Given the description of an element on the screen output the (x, y) to click on. 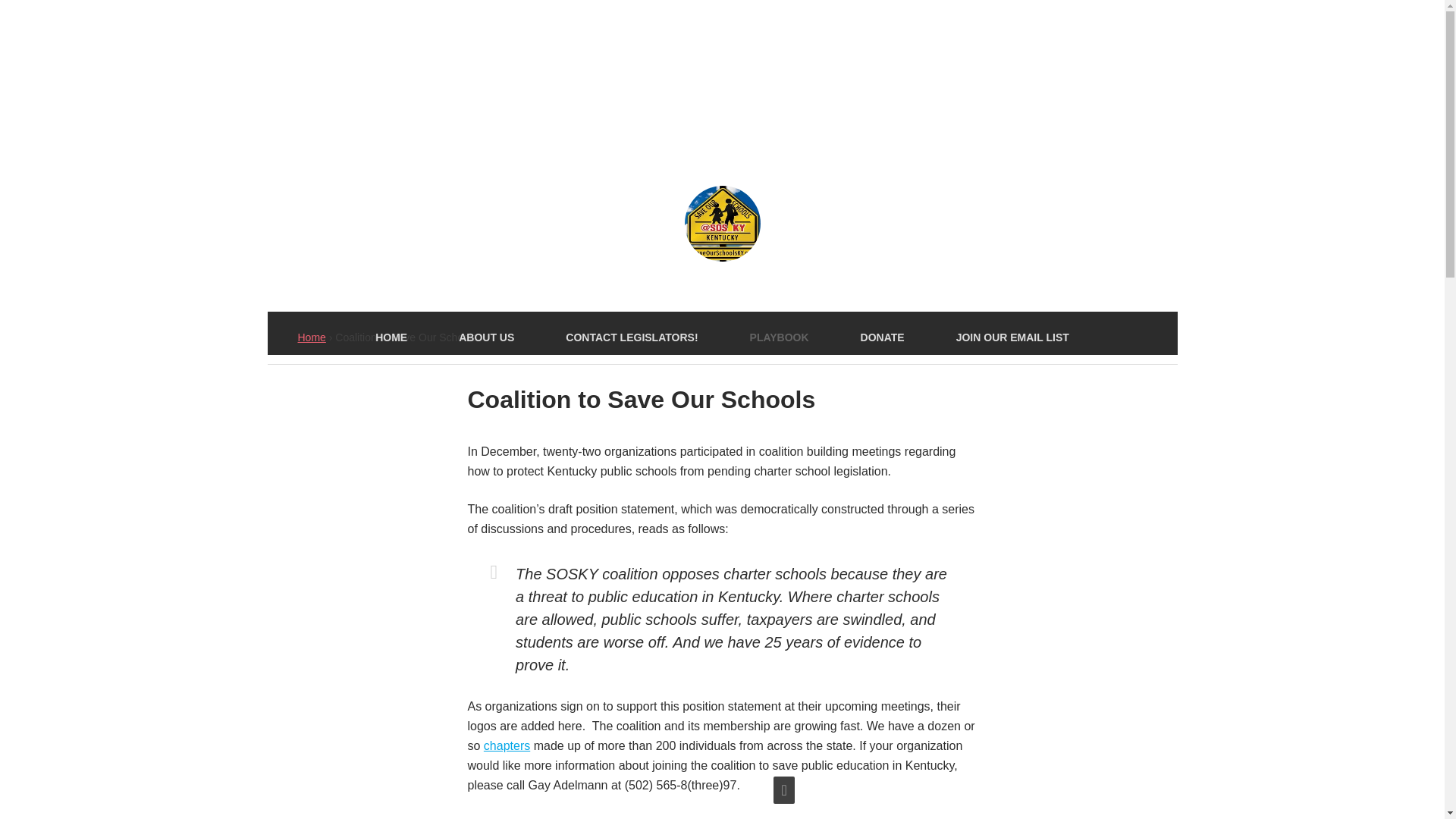
ABOUT US (486, 337)
CONTACT LEGISLATORS! (631, 337)
HOME (390, 337)
PLAYBOOK (778, 337)
